Given the description of an element on the screen output the (x, y) to click on. 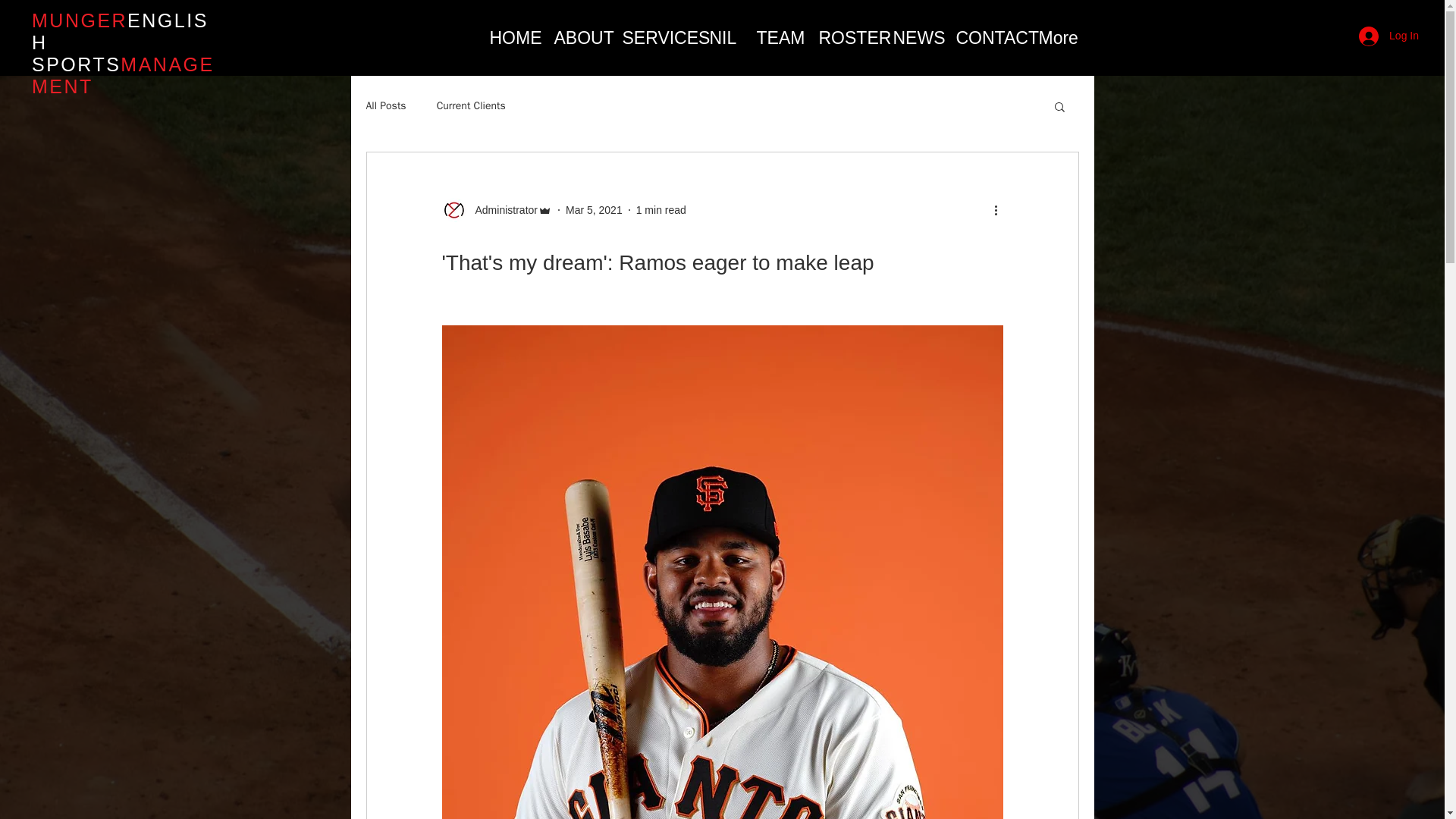
Current Clients (470, 106)
ROSTER (843, 37)
HOME (509, 37)
Mar 5, 2021 (594, 209)
Administrator (501, 209)
TEAM (775, 37)
MUNGERENGLISH (120, 31)
1 min read (660, 209)
Log In (1388, 35)
Administrator (496, 209)
All Posts (385, 106)
NEWS (911, 37)
NIL (720, 37)
CONTACT (985, 37)
SERVICES (654, 37)
